Given the description of an element on the screen output the (x, y) to click on. 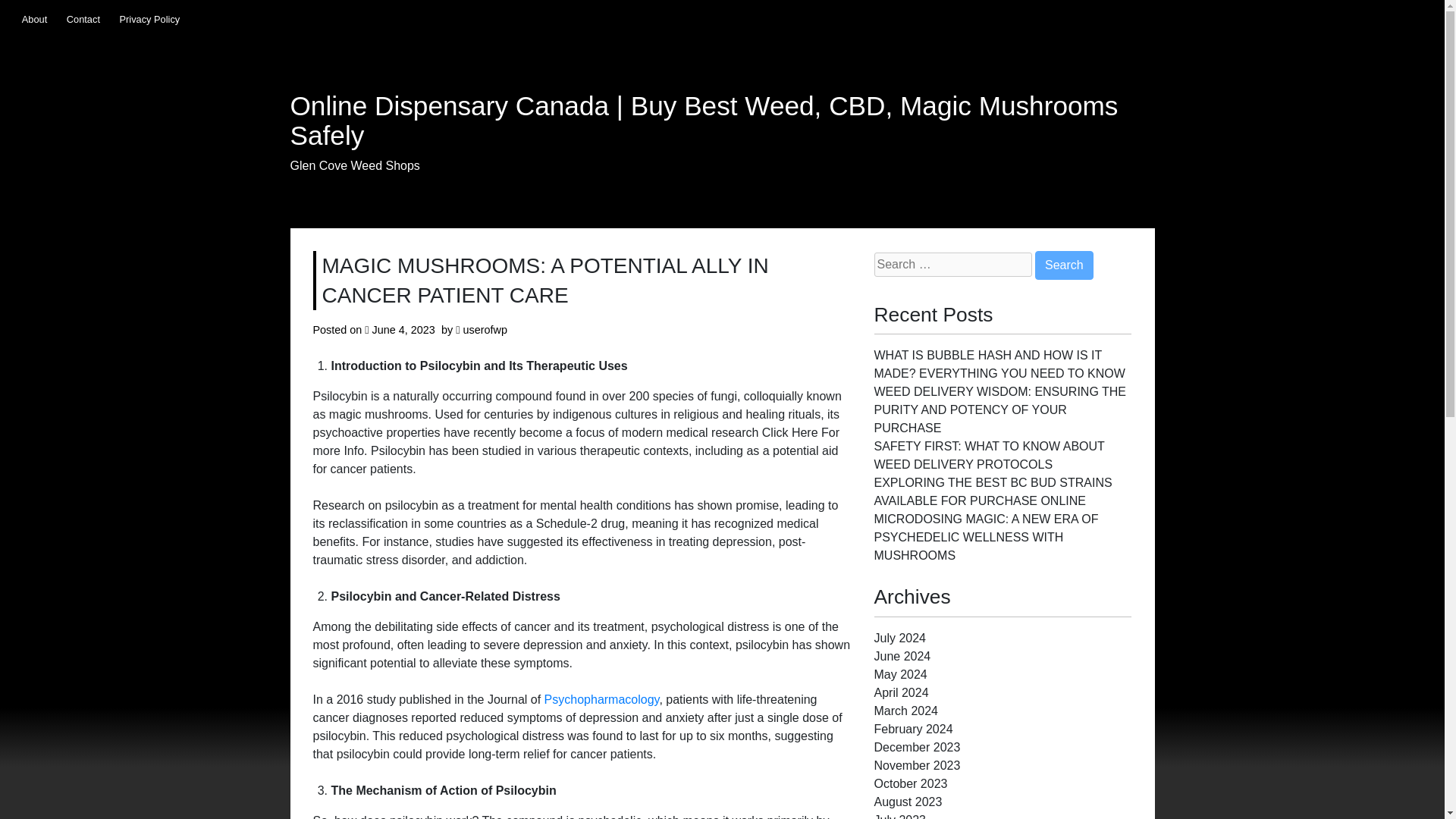
February 2024 (912, 728)
Privacy Policy (149, 18)
Contact (83, 18)
Search (1064, 265)
December 2023 (916, 747)
Search (1064, 265)
June 4, 2023 (403, 329)
SAFETY FIRST: WHAT TO KNOW ABOUT WEED DELIVERY PROTOCOLS  (988, 454)
